Given the description of an element on the screen output the (x, y) to click on. 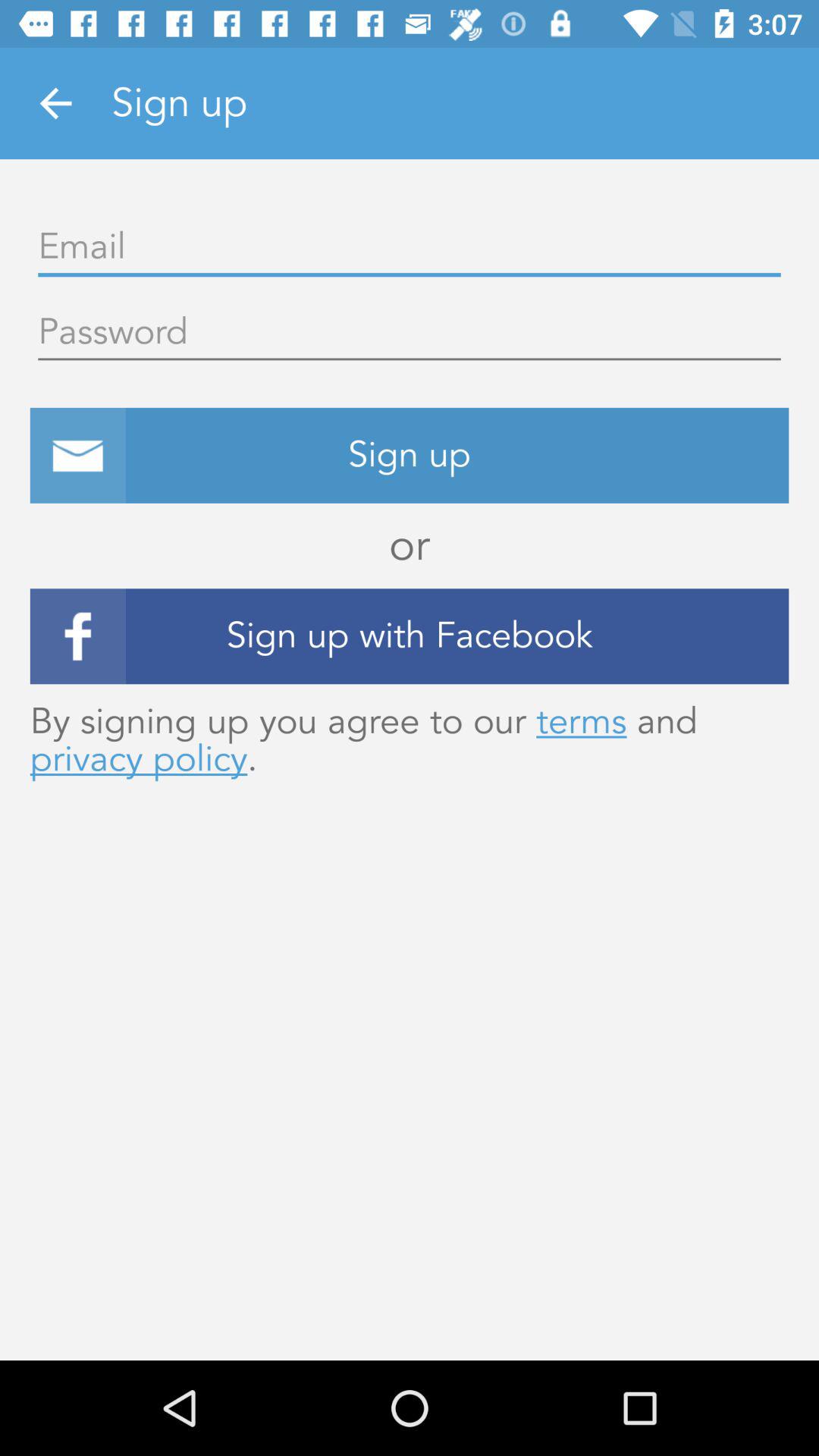
tap the by signing up (409, 740)
